Given the description of an element on the screen output the (x, y) to click on. 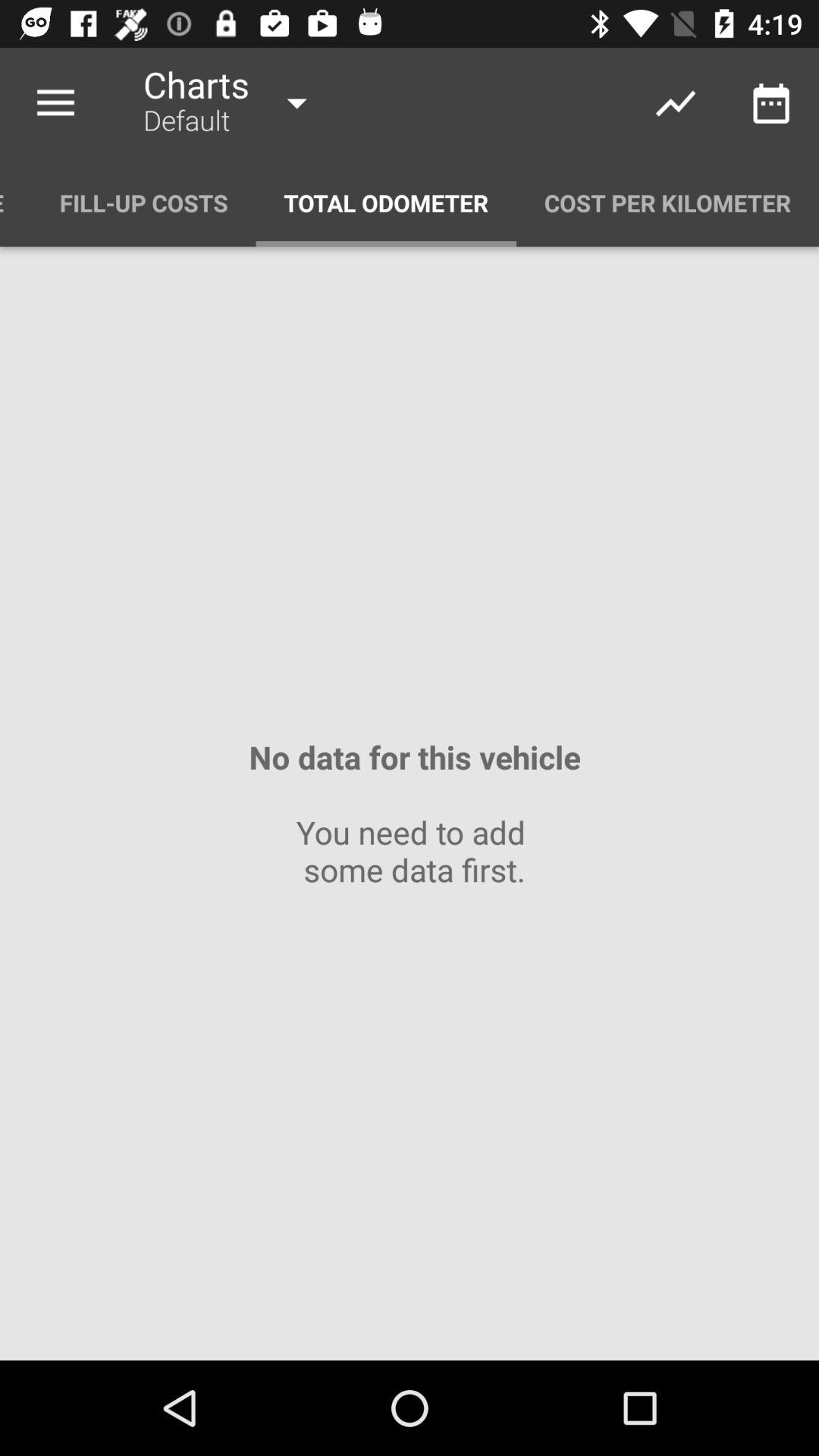
click the total odometer at the top (385, 202)
